Given the description of an element on the screen output the (x, y) to click on. 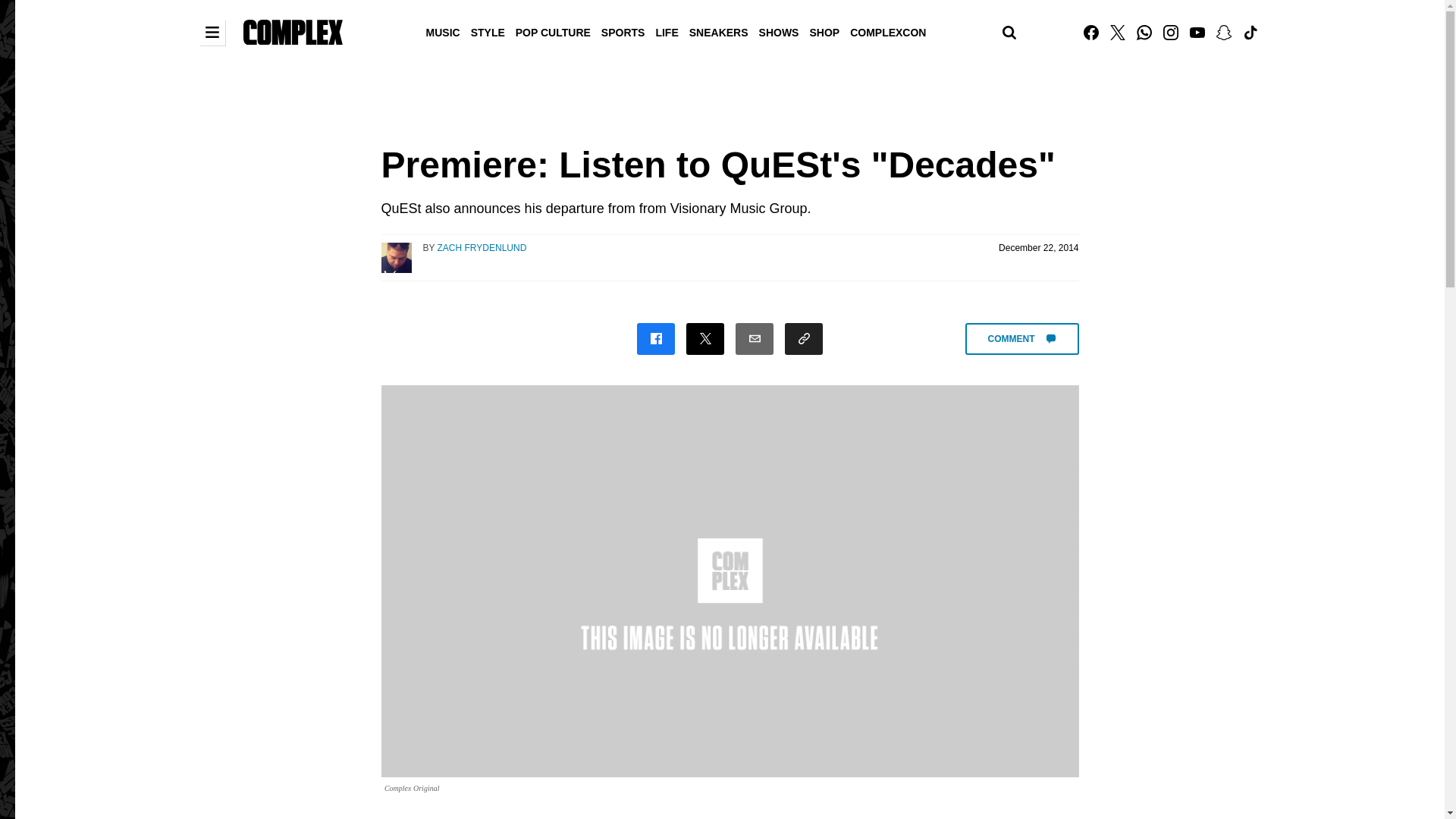
LIFE (665, 30)
POP CULTURE (553, 30)
COMPLEXCON (887, 30)
SNEAKERS (719, 30)
MUSIC (442, 30)
SHOWS (779, 30)
STYLE (488, 30)
SHOP (823, 30)
SPORTS (622, 30)
